Given the description of an element on the screen output the (x, y) to click on. 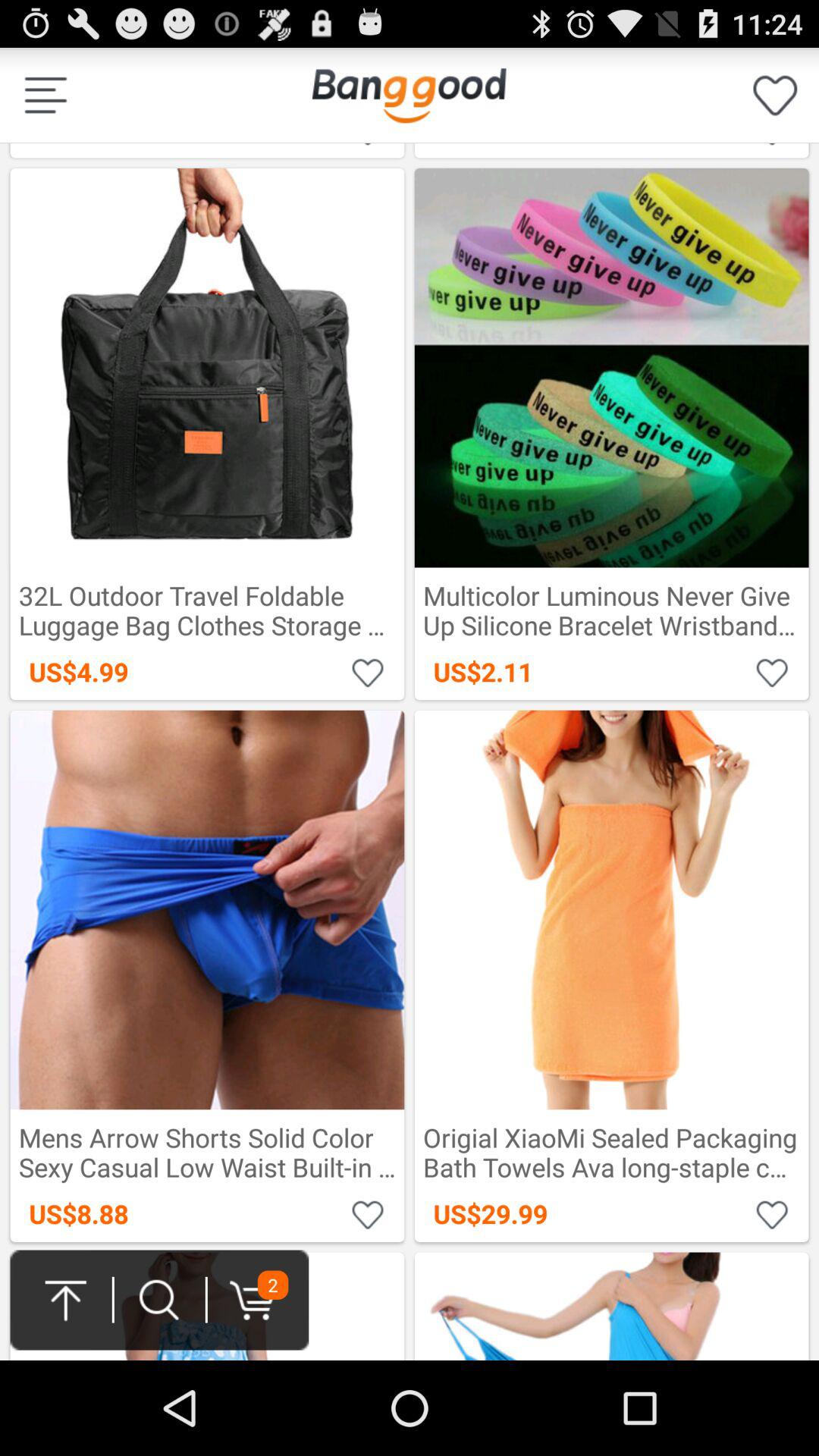
favorites list (775, 95)
